Given the description of an element on the screen output the (x, y) to click on. 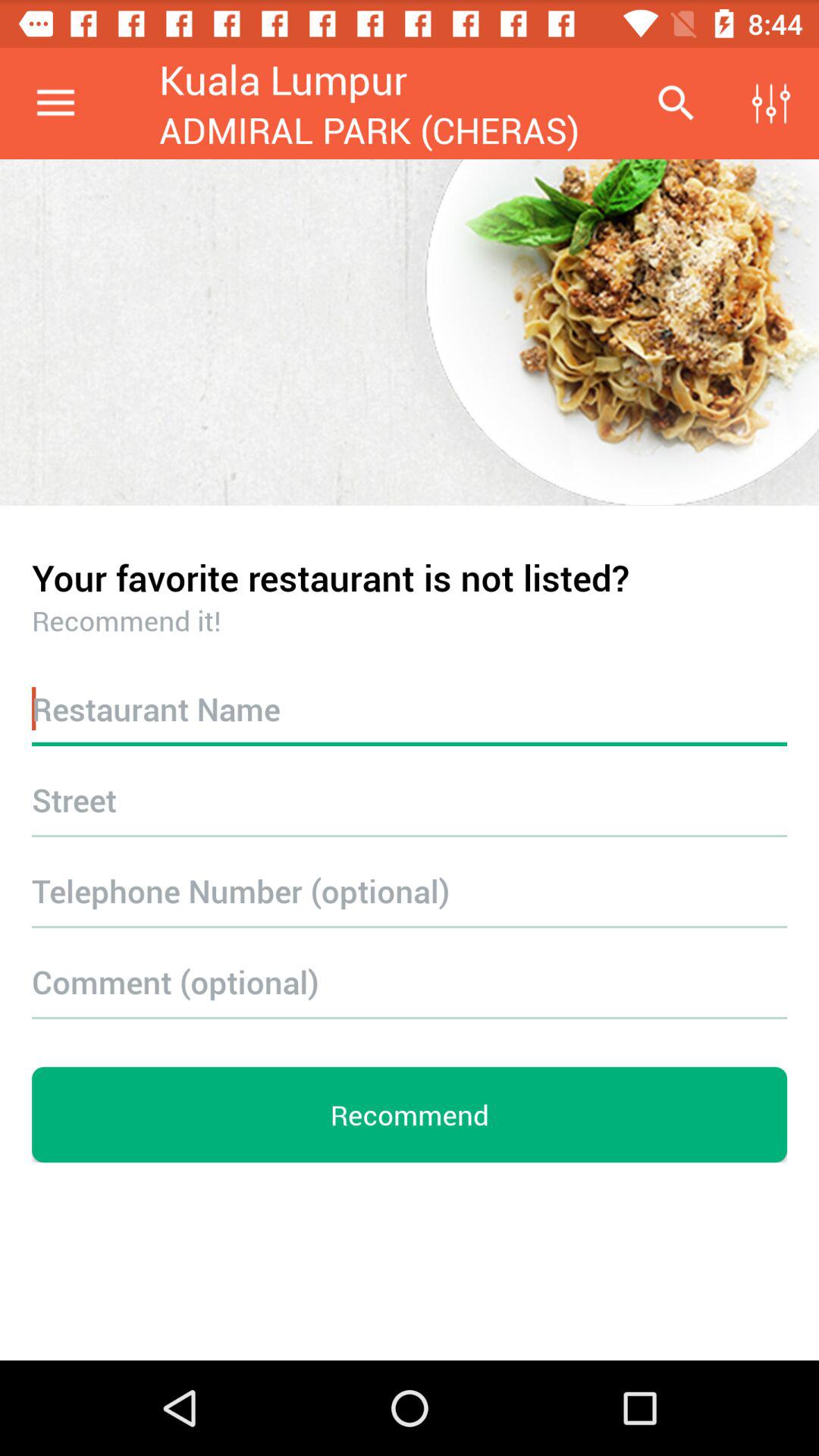
turn on the icon to the right of the kuala lumpur icon (675, 103)
